Given the description of an element on the screen output the (x, y) to click on. 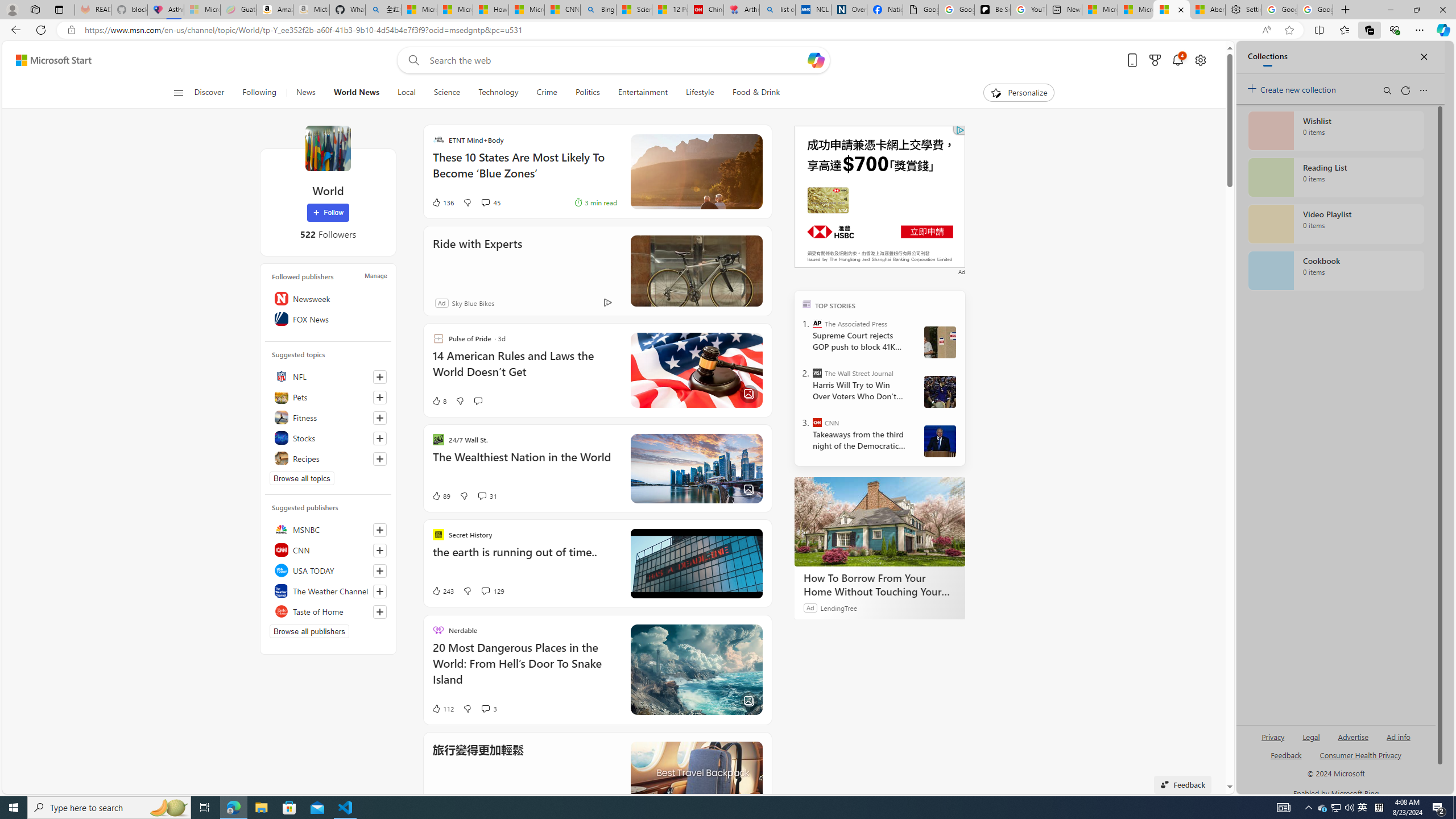
View comments 31 Comment (481, 496)
AutomationID: genId96 (1285, 759)
Be Smart | creating Science videos | Patreon (991, 9)
Browse all publishers (309, 631)
